Given the description of an element on the screen output the (x, y) to click on. 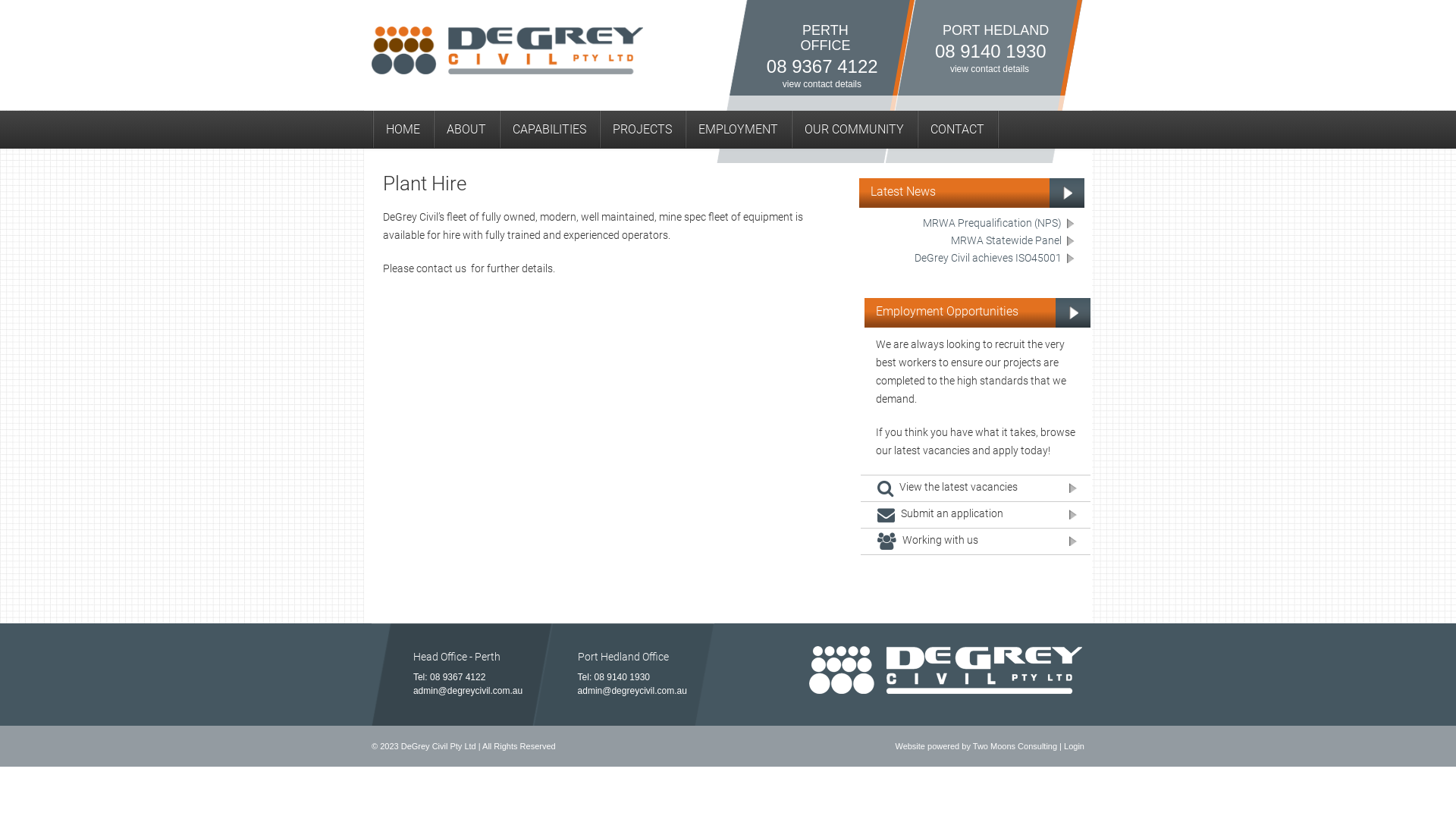
view contact details Element type: text (821, 83)
08 9140 1930 Element type: text (990, 50)
CONTACT Element type: text (957, 129)
Two Moons Consulting Element type: text (1014, 745)
MRWA Prequalification (NPS) Element type: text (999, 223)
  Element type: text (999, 131)
View the latest vacancies Element type: text (974, 488)
08 9367 4122 Element type: text (822, 66)
admin@degreycivil.com.au Element type: text (632, 690)
ABOUT Element type: text (466, 129)
08 9367 4122 Element type: text (457, 676)
EMPLOYMENT Element type: text (738, 129)
MRWA Statewide Panel Element type: text (1013, 241)
PROJECTS Element type: text (642, 129)
08 9140 1930 Element type: text (621, 676)
DeGrey Civil achieves ISO45001 Element type: text (995, 258)
CAPABILITIES Element type: text (549, 129)
Login Element type: text (1073, 745)
admin@degreycivil.com.au Element type: text (467, 690)
HOME Element type: text (402, 129)
Submit an application Element type: text (974, 515)
Working with us Element type: text (974, 541)
view contact details Element type: text (989, 68)
OUR COMMUNITY Element type: text (854, 129)
